Given the description of an element on the screen output the (x, y) to click on. 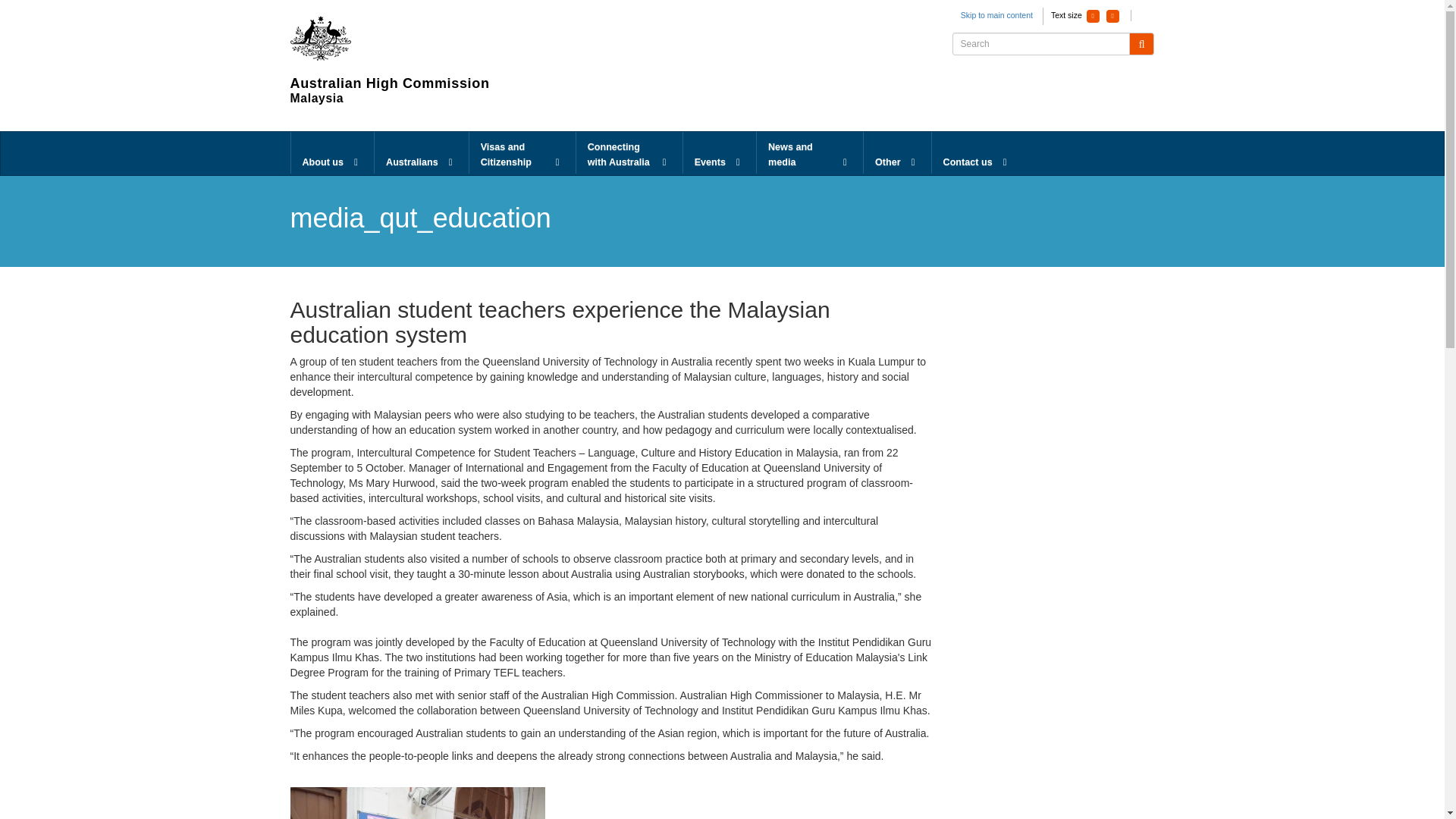
Other   (897, 153)
Contact us   (977, 153)
Australians   (421, 153)
Skip to main content (996, 14)
About us   (332, 153)
Events   (718, 153)
Visas and Citizenship   (521, 153)
Increase text size. (1112, 15)
Reduce text size. (1092, 15)
News and media   (810, 153)
Connecting with Australia   (629, 153)
